Given the description of an element on the screen output the (x, y) to click on. 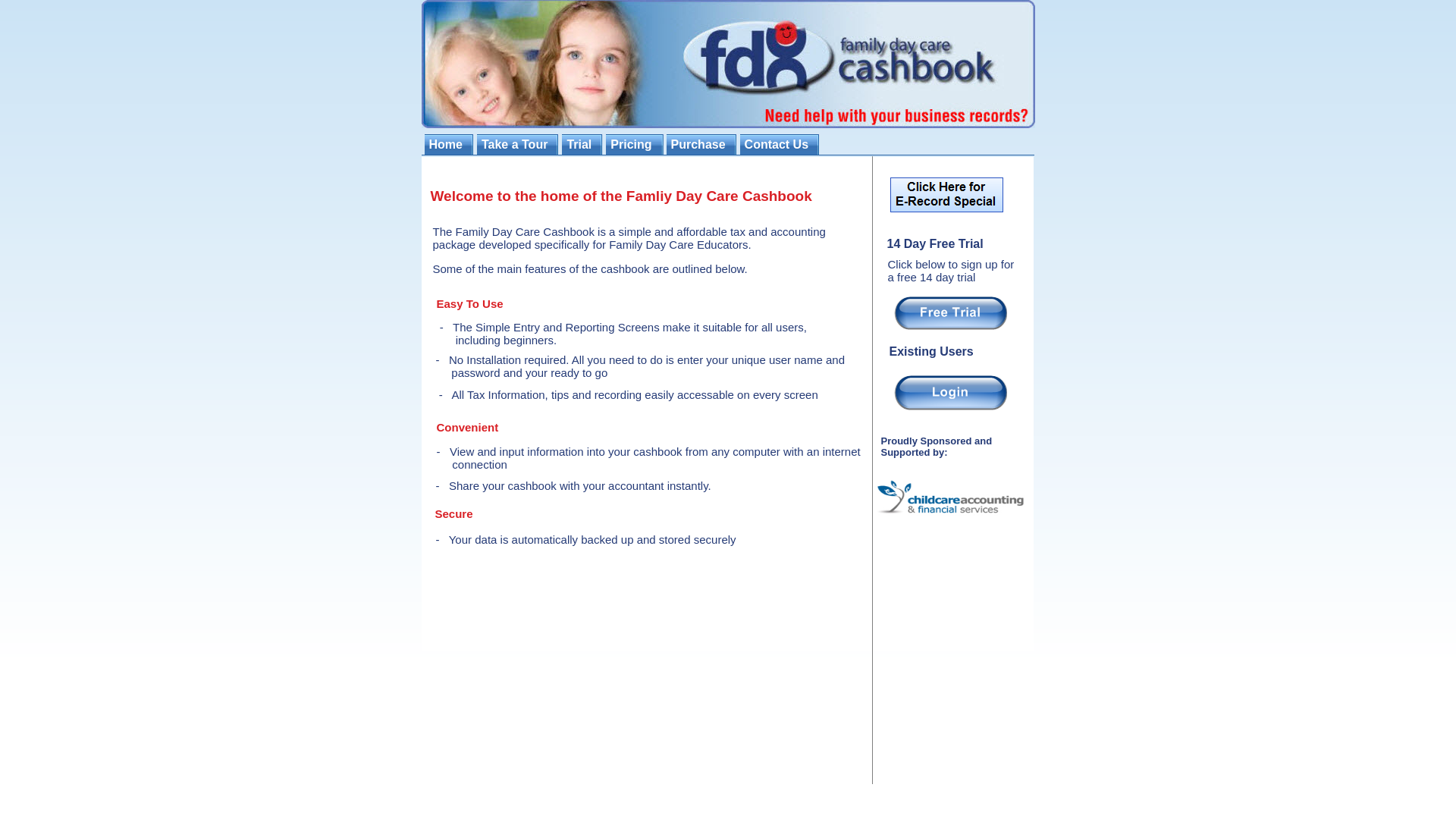
Purchase Element type: text (700, 144)
Pricing Element type: text (632, 144)
Trial Element type: text (580, 144)
Contact Us Element type: text (778, 144)
Take a Tour Element type: text (515, 144)
Home Element type: text (447, 144)
